Given the description of an element on the screen output the (x, y) to click on. 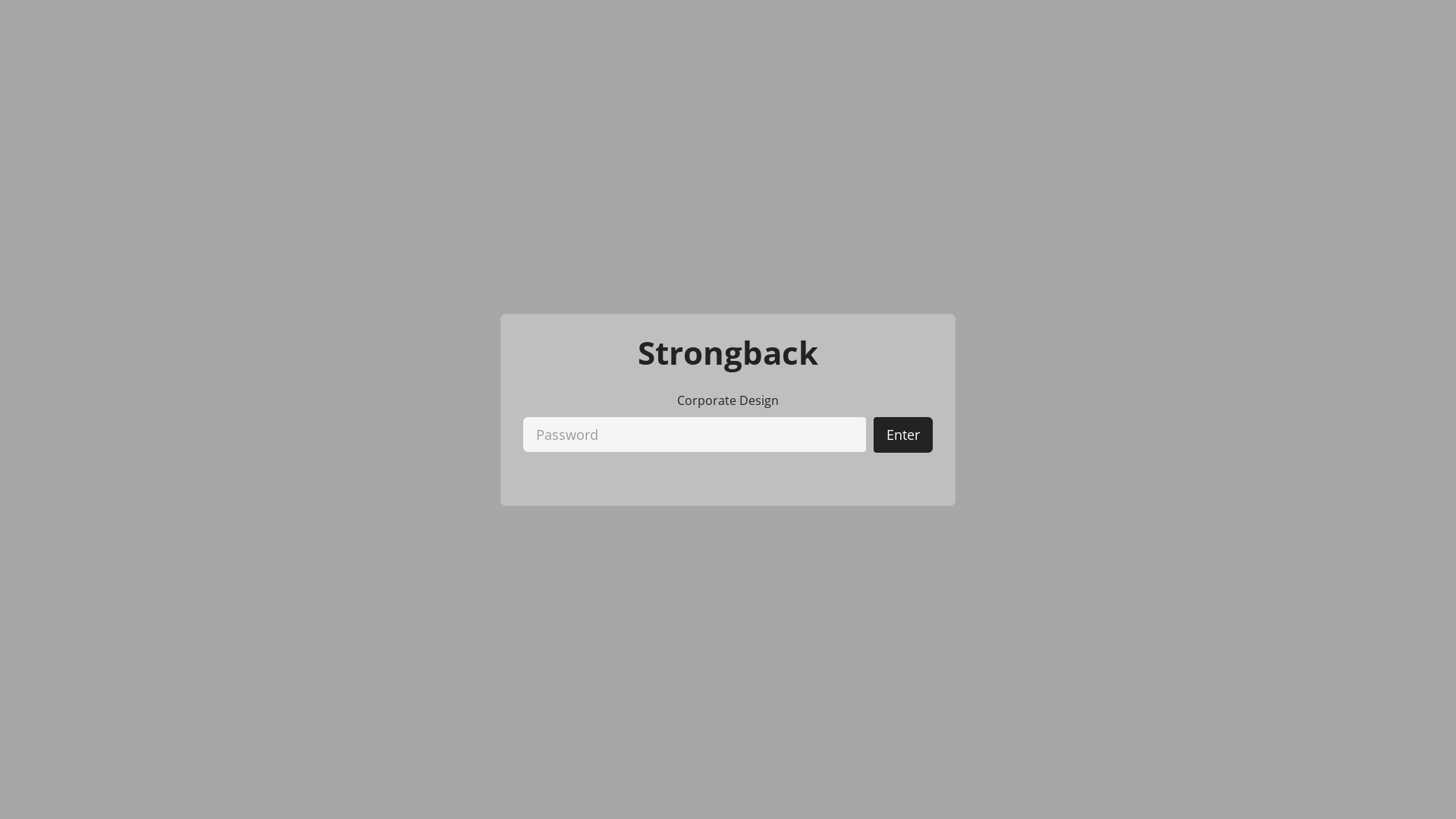
Enter Element type: text (902, 434)
